Given the description of an element on the screen output the (x, y) to click on. 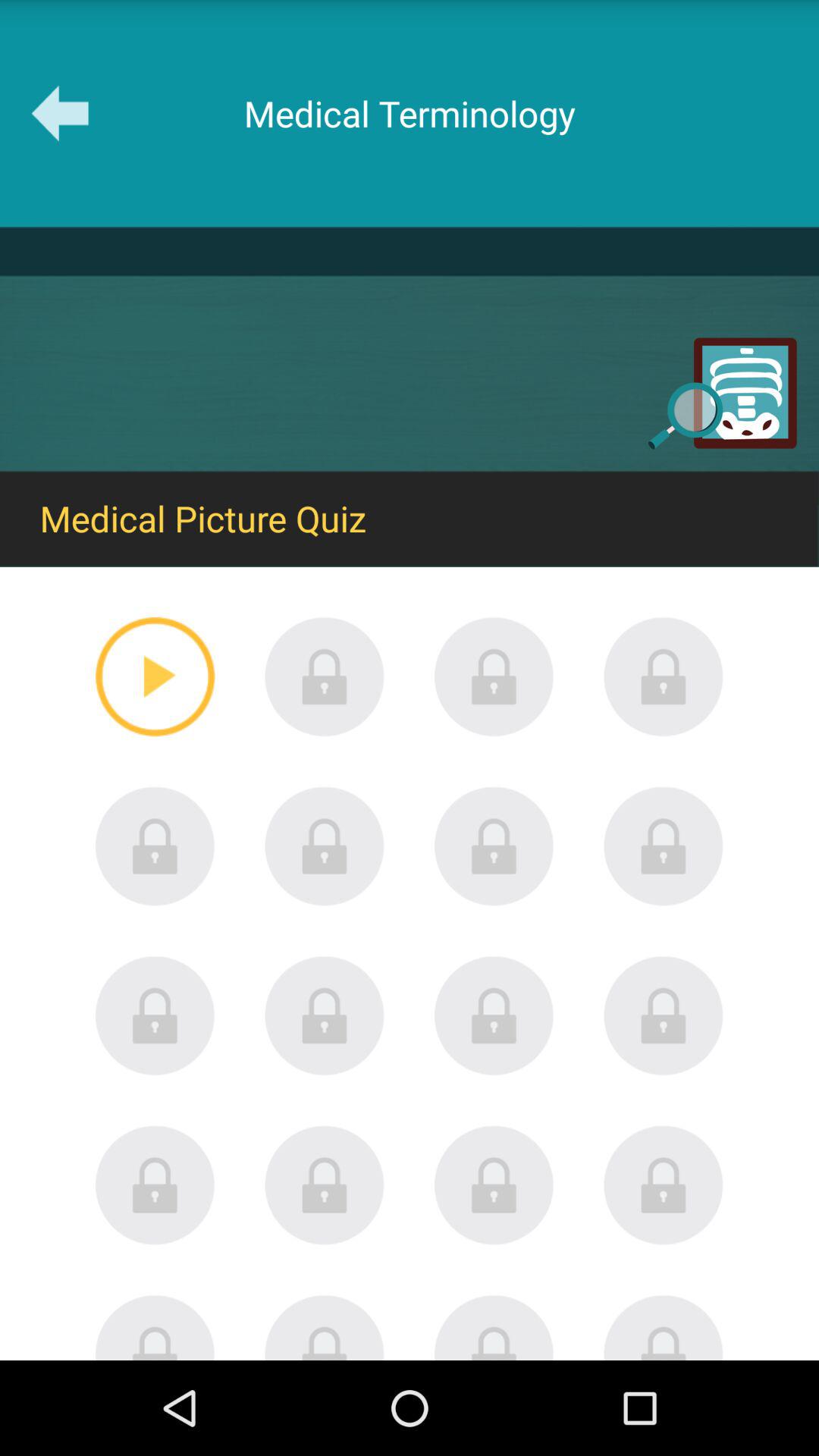
this item is locked or unavailable (324, 676)
